Given the description of an element on the screen output the (x, y) to click on. 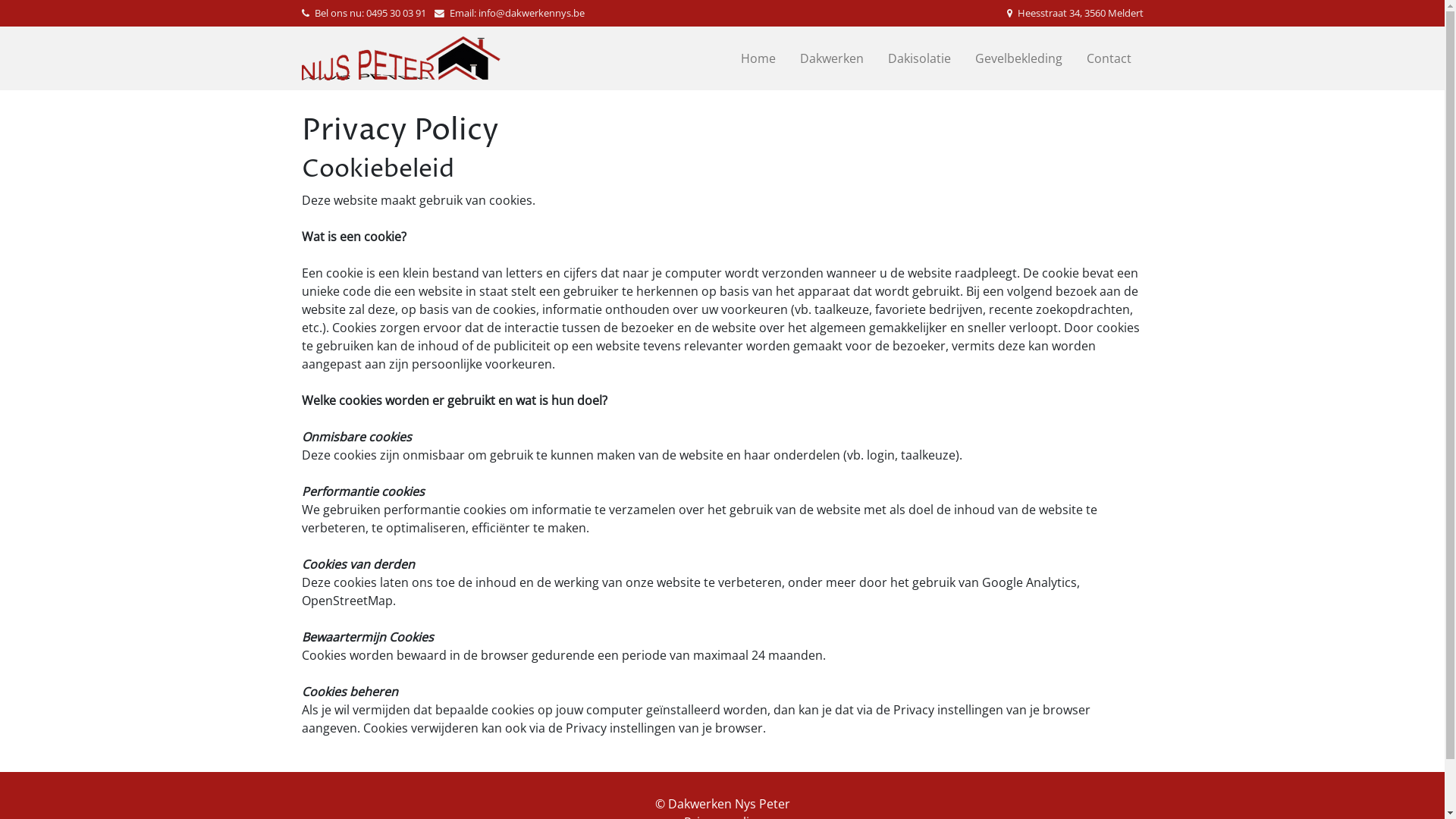
Bel ons nu: 0495 30 03 91 Element type: text (364, 12)
Dakisolatie Element type: text (918, 58)
Gevelbekleding Element type: text (1018, 58)
Heesstraat 34, 3560 Meldert Element type: text (1075, 13)
Dakwerken Element type: text (831, 58)
Home Element type: text (757, 58)
Contact Element type: text (1107, 58)
Email: info@dakwerkennys.be Element type: text (508, 12)
